Given the description of an element on the screen output the (x, y) to click on. 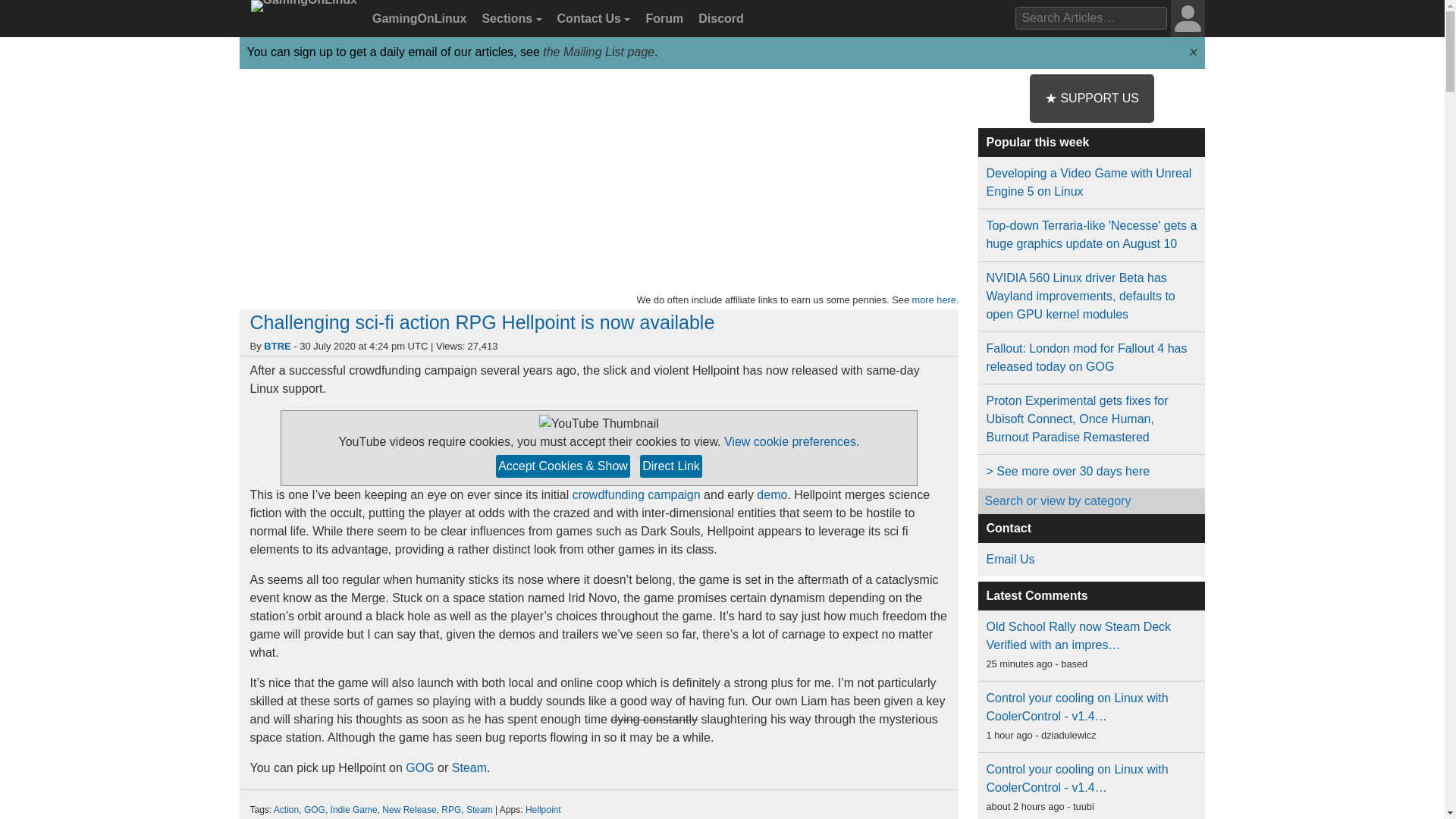
Sections (509, 19)
Contact Us (592, 19)
GamingOnLinux (417, 19)
GamingOnLinux Home (301, 23)
Discord (719, 19)
Forum (662, 19)
the Mailing List page (598, 51)
